Given the description of an element on the screen output the (x, y) to click on. 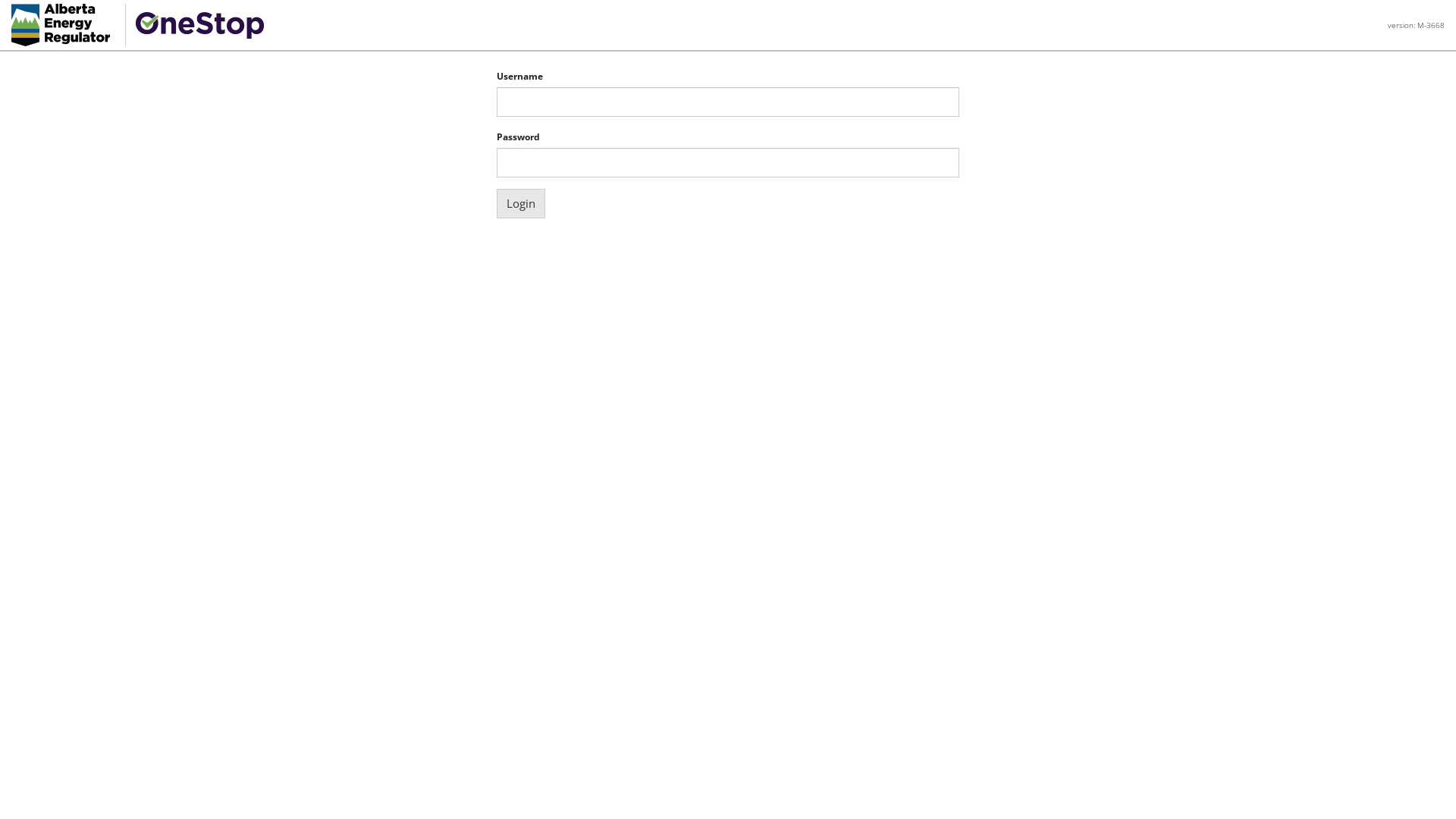
Login Element type: text (520, 203)
